Given the description of an element on the screen output the (x, y) to click on. 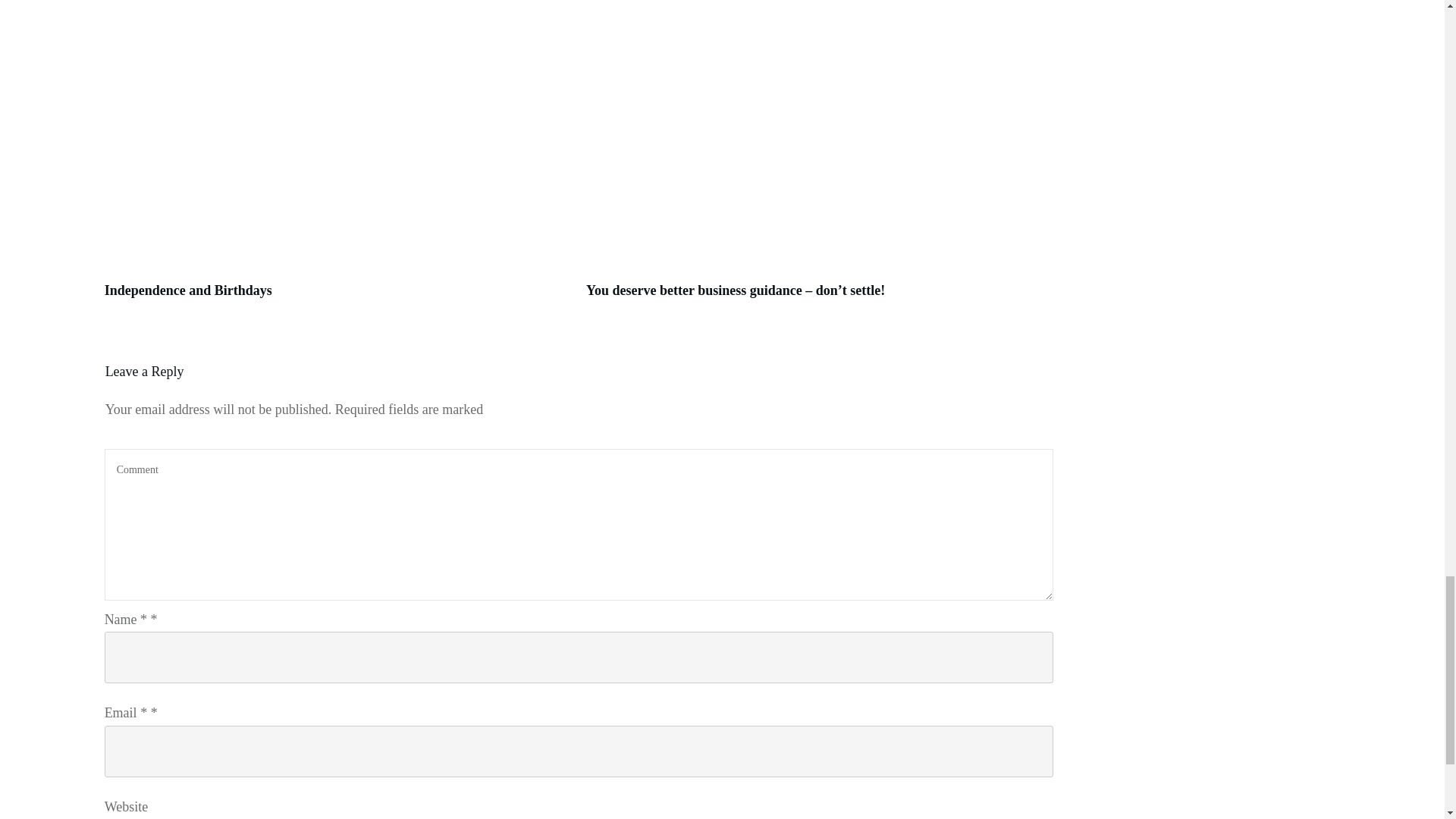
Independence and Birthdays (188, 290)
